Given the description of an element on the screen output the (x, y) to click on. 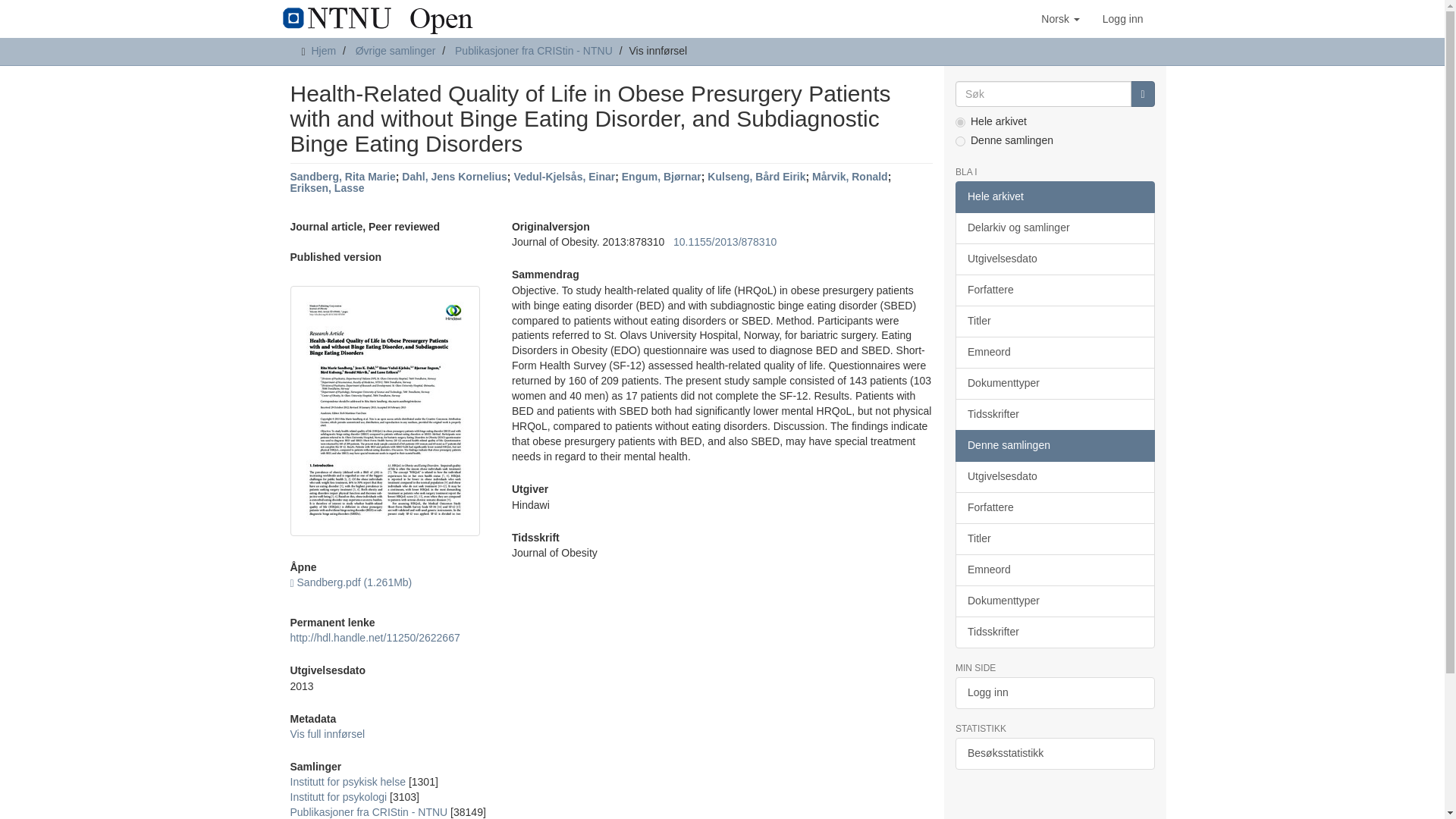
Institutt for psykisk helse (347, 781)
Eriksen, Lasse (326, 187)
Sandberg, Rita Marie (341, 176)
Norsk  (1059, 18)
Logg inn (1122, 18)
Publikasjoner fra CRIStin - NTNU (533, 50)
Dahl, Jens Kornelius (453, 176)
Hjem (323, 50)
Institutt for psykologi (338, 797)
Publikasjoner fra CRIStin - NTNU (367, 811)
